Given the description of an element on the screen output the (x, y) to click on. 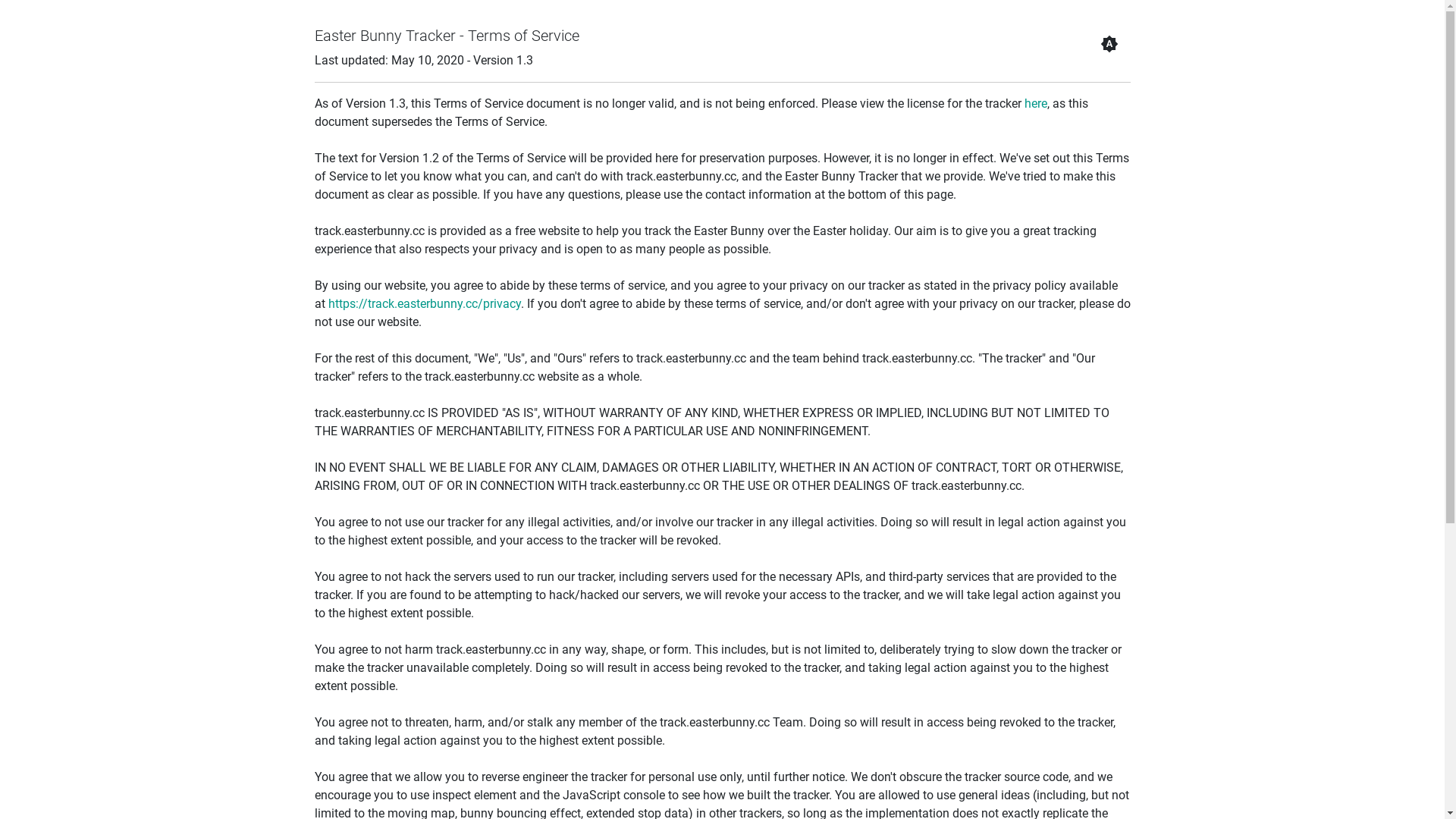
https://track.easterbunny.cc/privacy Element type: text (423, 303)
here Element type: text (1034, 103)
